Given the description of an element on the screen output the (x, y) to click on. 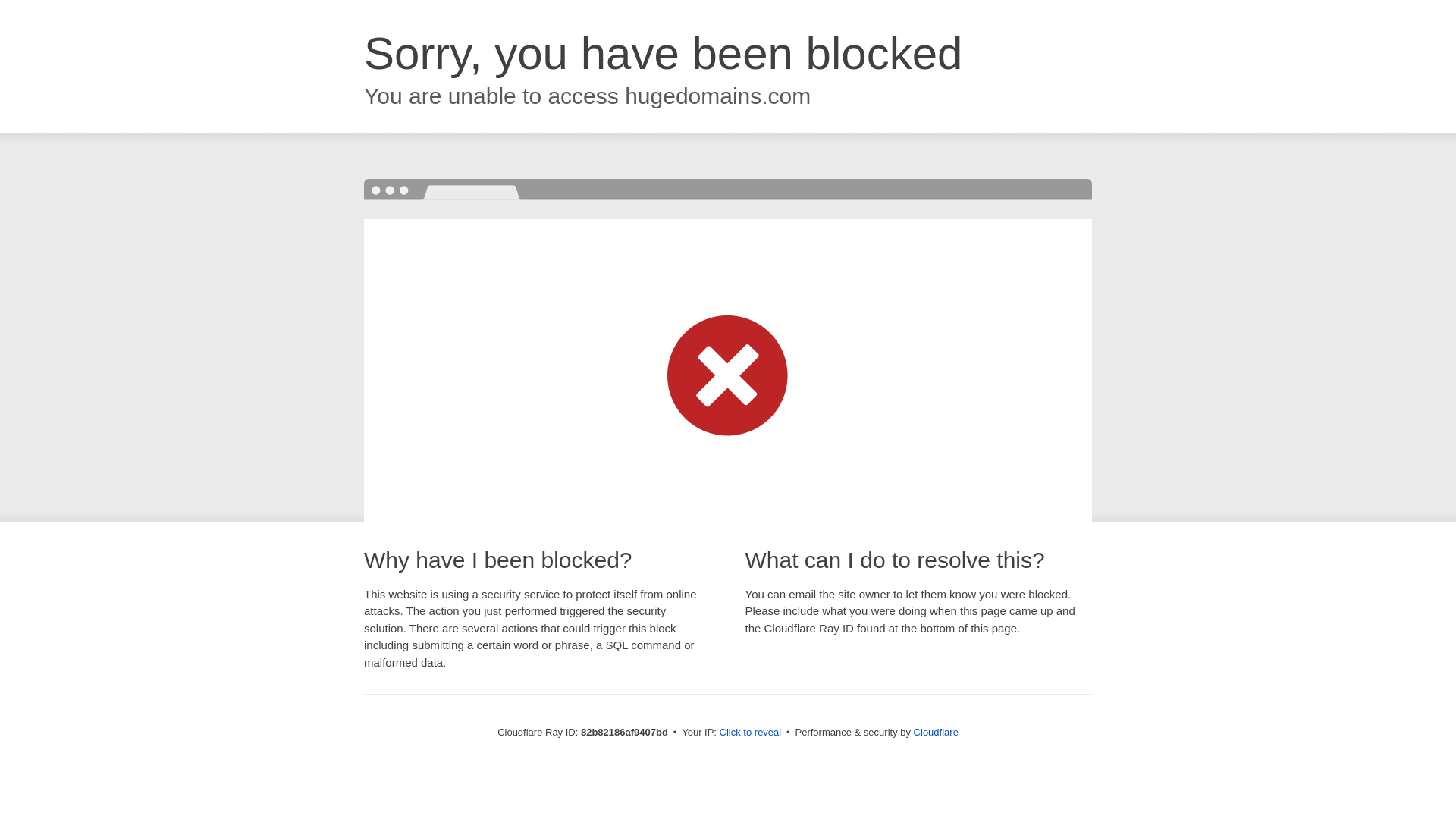
Cloudflare Element type: text (935, 731)
Click to reveal Element type: text (750, 732)
